Given the description of an element on the screen output the (x, y) to click on. 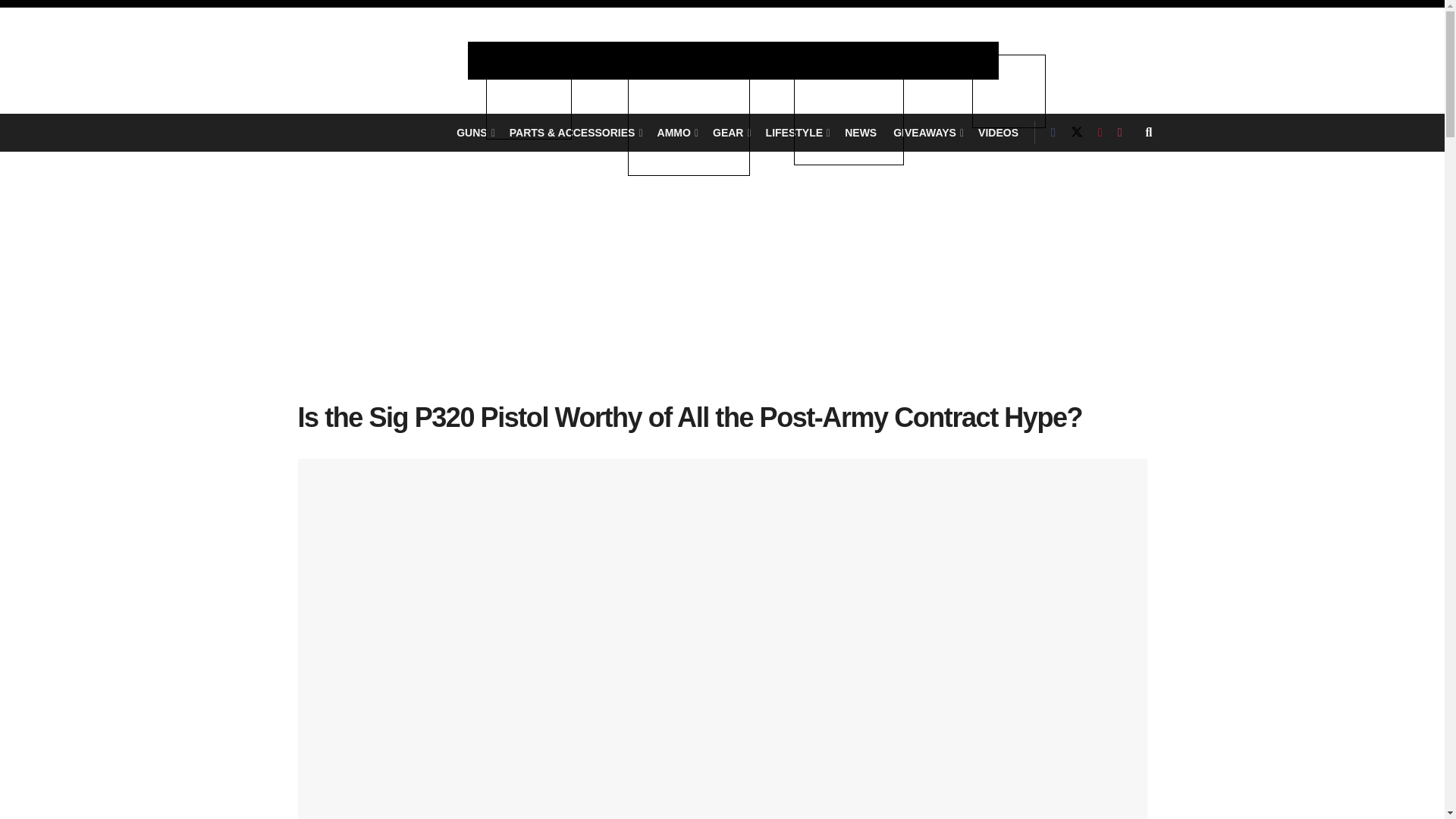
GUNS (475, 132)
GEAR (731, 132)
AMMO (676, 132)
